Given the description of an element on the screen output the (x, y) to click on. 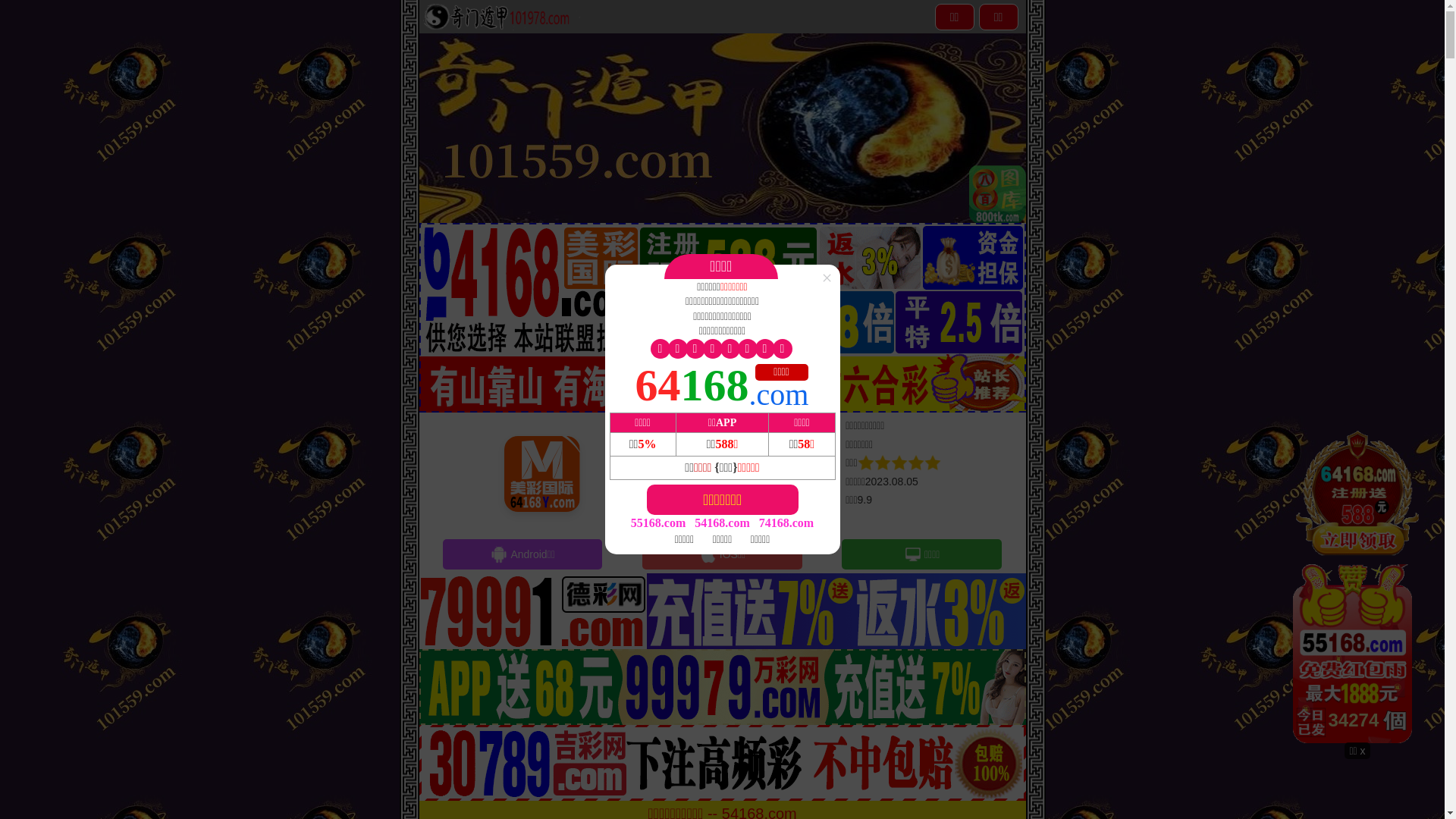
34206 Element type: text (1356, 585)
